Given the description of an element on the screen output the (x, y) to click on. 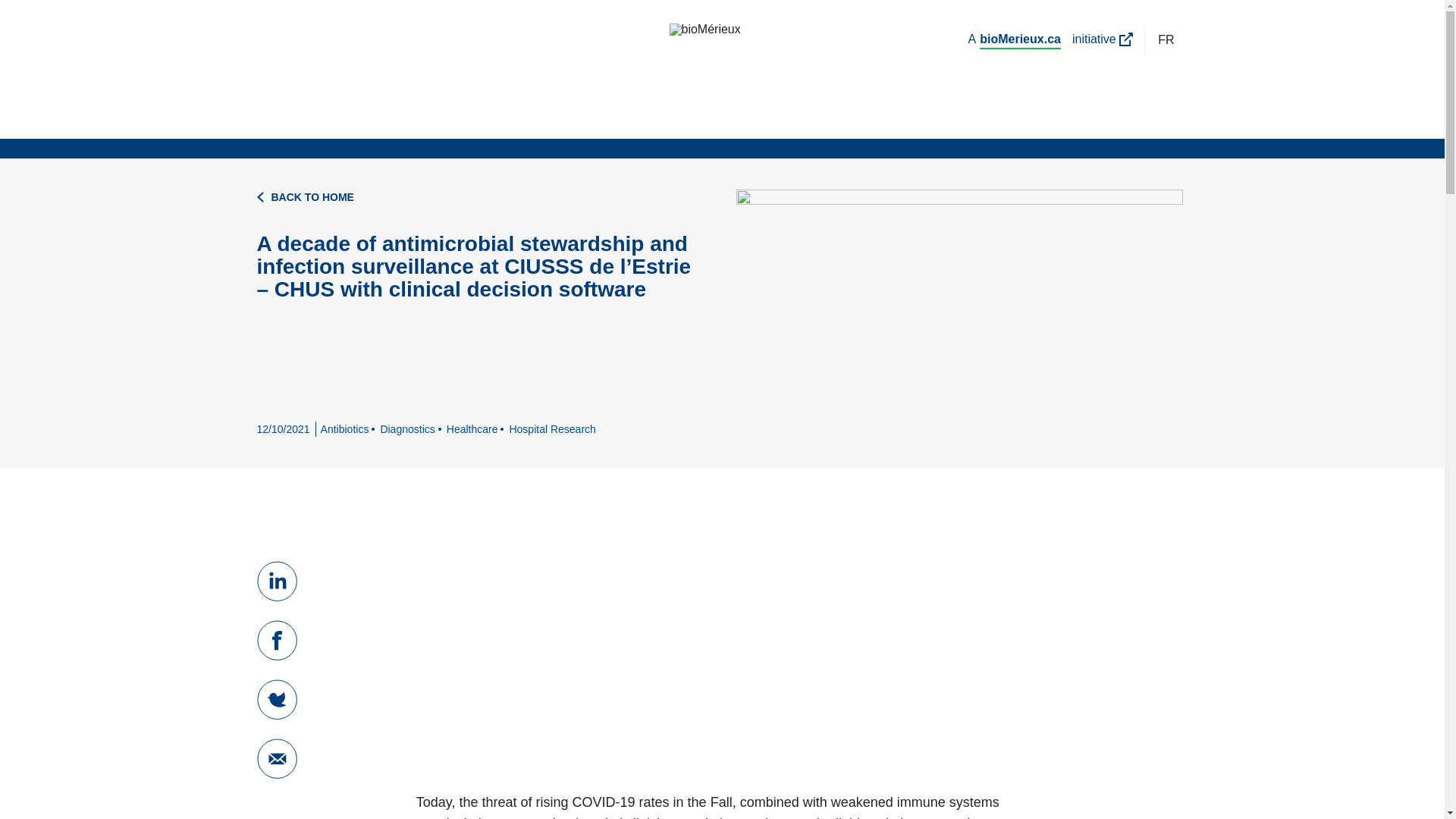
Subscribe Element type: text (949, 500)
BACK TO HOME Element type: text (482, 196)
FR Element type: text (1165, 39)
bioMerieux.ca Element type: text (1019, 39)
